Given the description of an element on the screen output the (x, y) to click on. 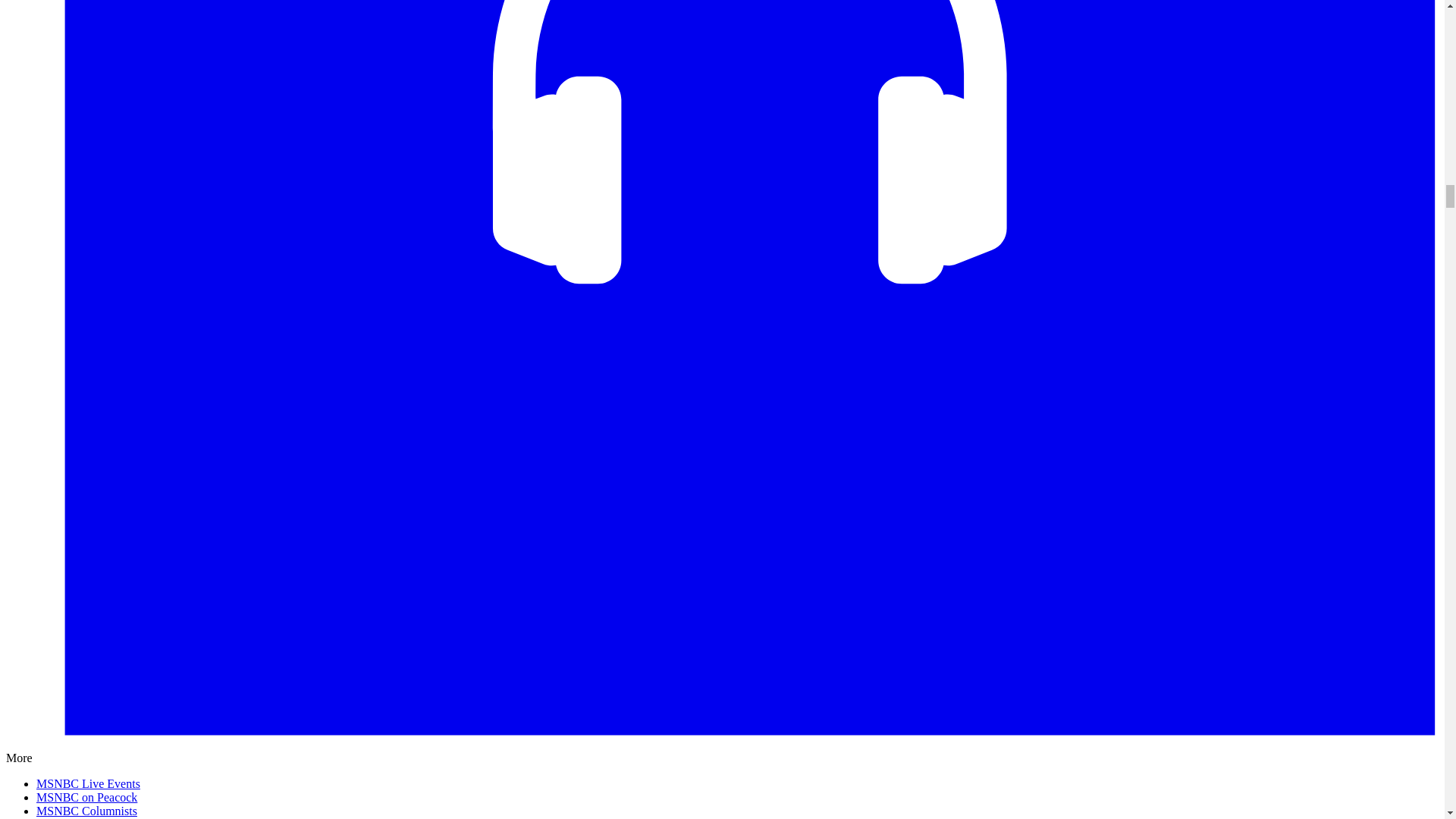
MSNBC on Peacock (86, 797)
MSNBC Live Events (87, 783)
